Given the description of an element on the screen output the (x, y) to click on. 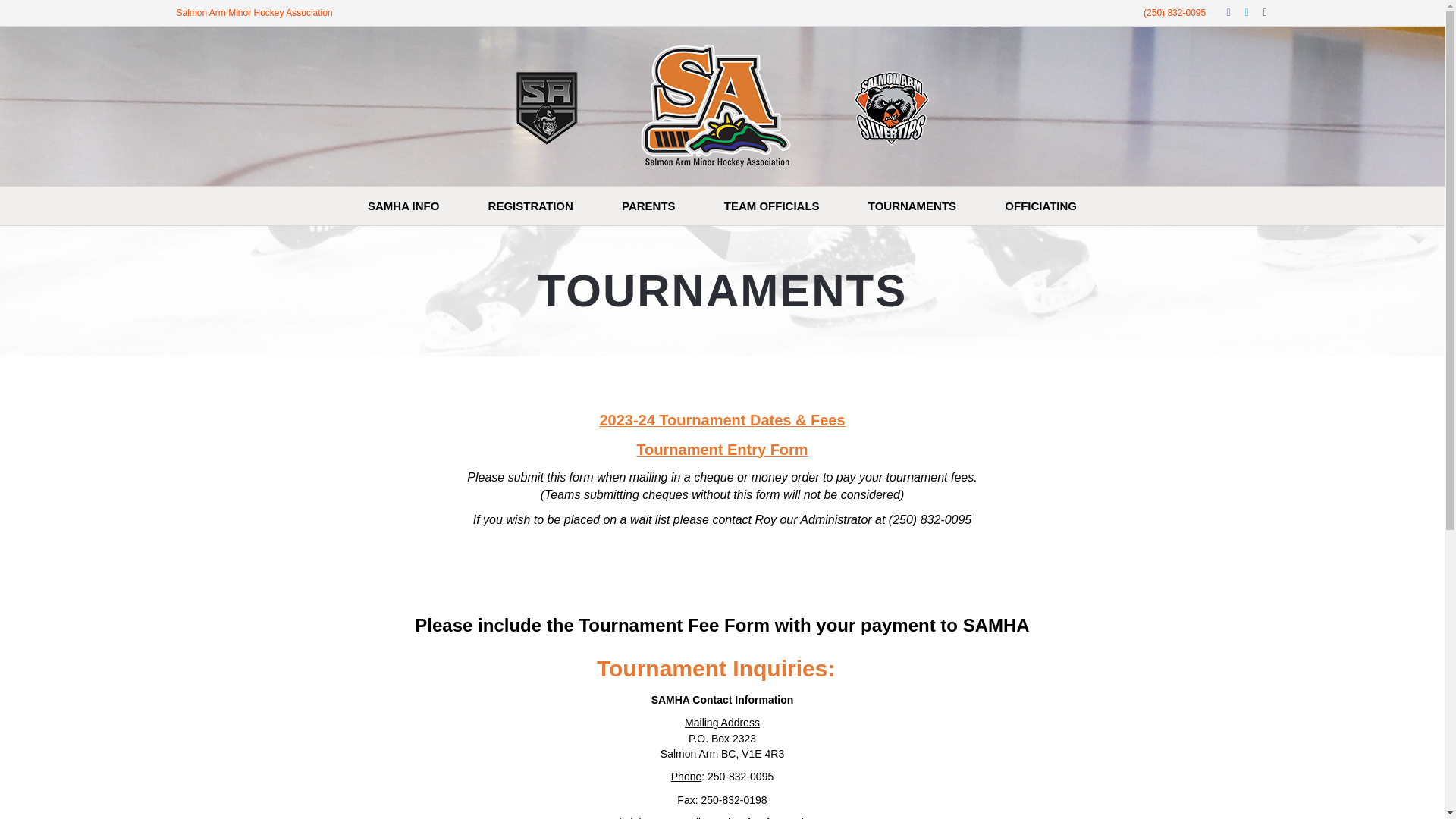
REGISTRATION (530, 205)
Twitter (1238, 11)
Email (1256, 11)
PARENTS (648, 205)
SAMHA INFO (403, 205)
Facebook (1220, 11)
